Given the description of an element on the screen output the (x, y) to click on. 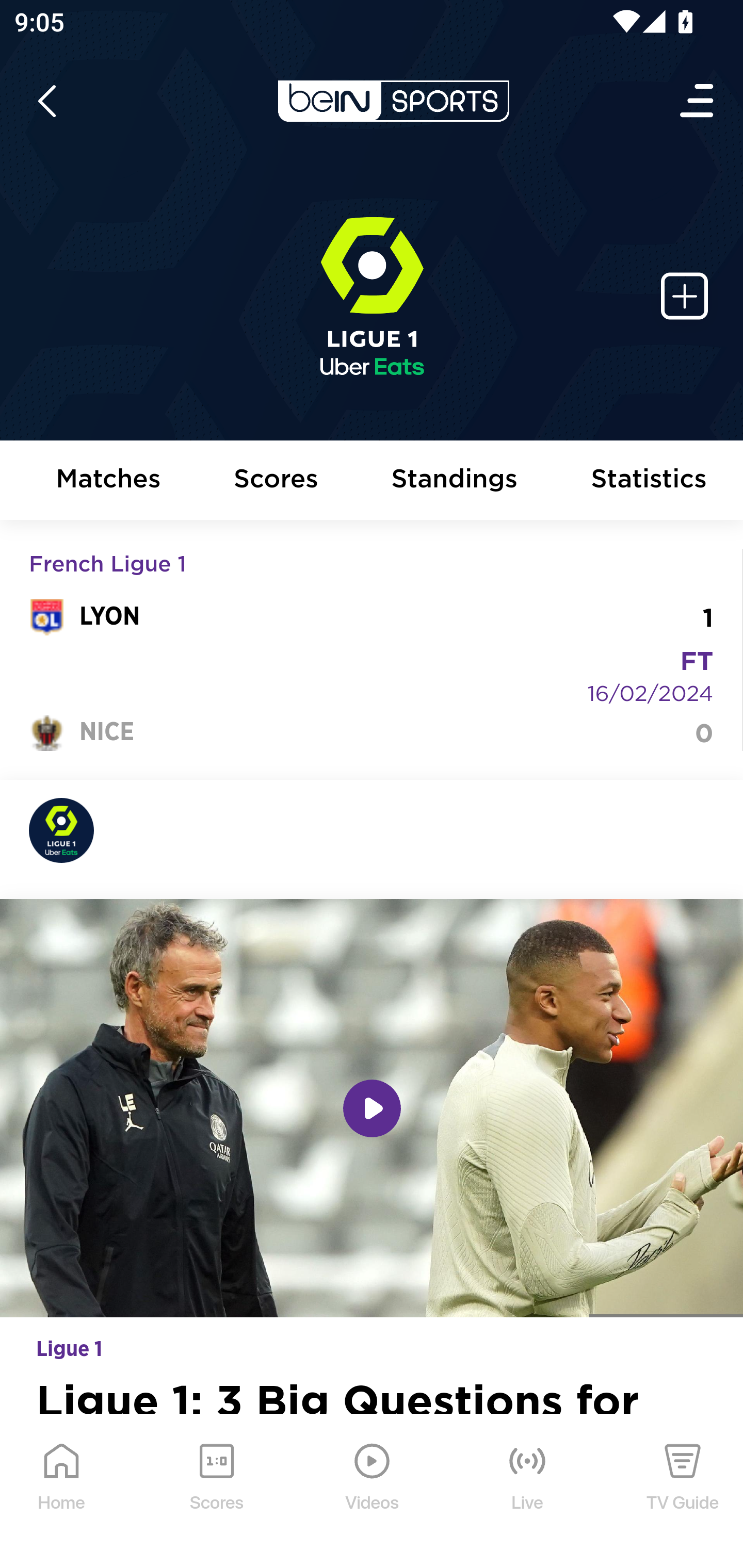
en-us?platform=mobile_android bein logo white (392, 101)
icon back (46, 101)
Open Menu Icon (697, 101)
Matches (107, 480)
Scores (275, 480)
Standings (454, 480)
Statistics (649, 480)
Home Home Icon Home (61, 1491)
Scores Scores Icon Scores (216, 1491)
Videos Videos Icon Videos (372, 1491)
TV Guide TV Guide Icon TV Guide (682, 1491)
